Given the description of an element on the screen output the (x, y) to click on. 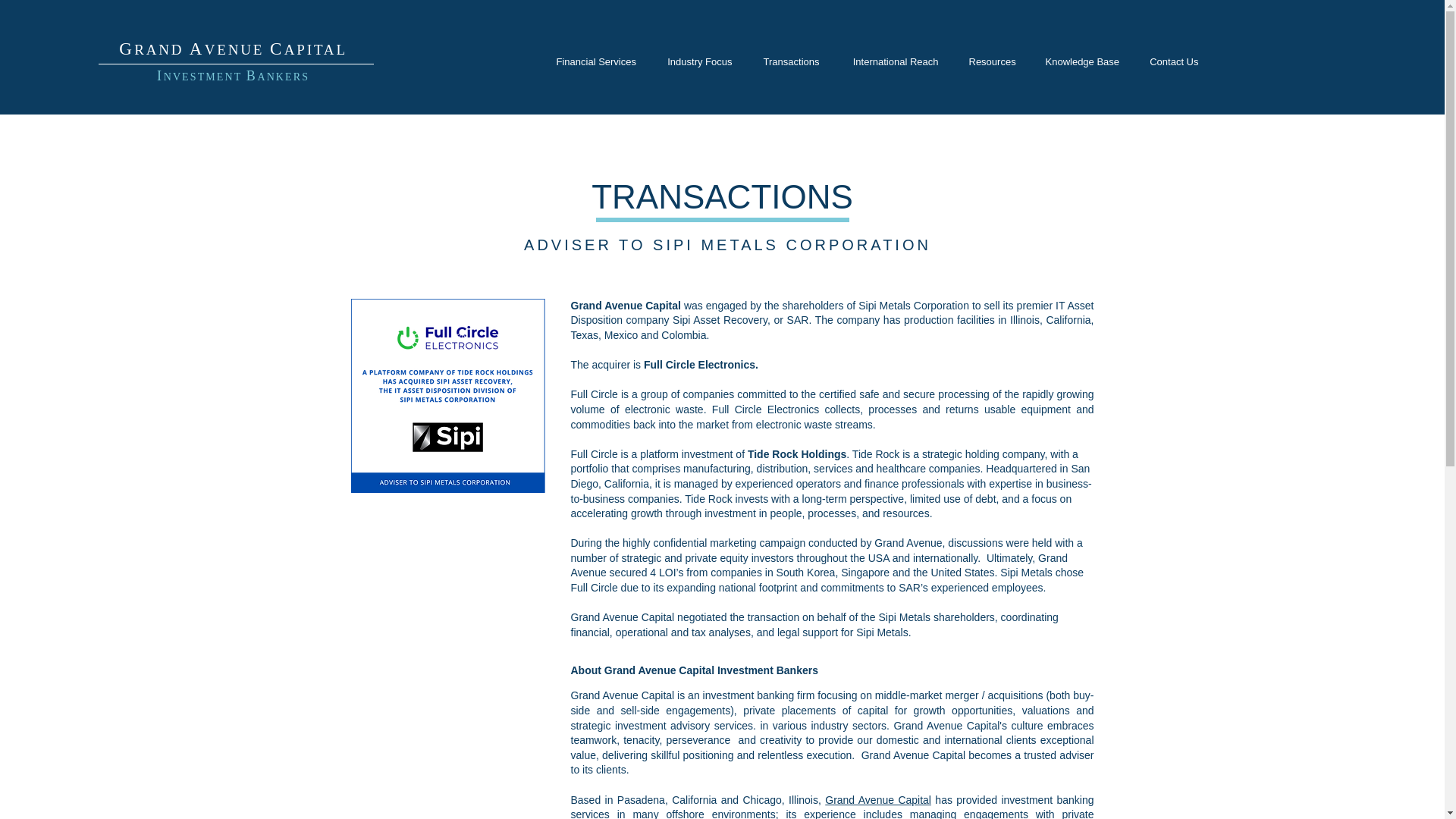
Resources (991, 61)
VENUE (237, 49)
APITAL (315, 49)
NVESTMENT (204, 76)
Grand Avenue Capital (878, 799)
Industry Focus (697, 61)
Transactions (791, 61)
ANKERS (282, 76)
Contact Us (1174, 61)
RAND (158, 49)
